Given the description of an element on the screen output the (x, y) to click on. 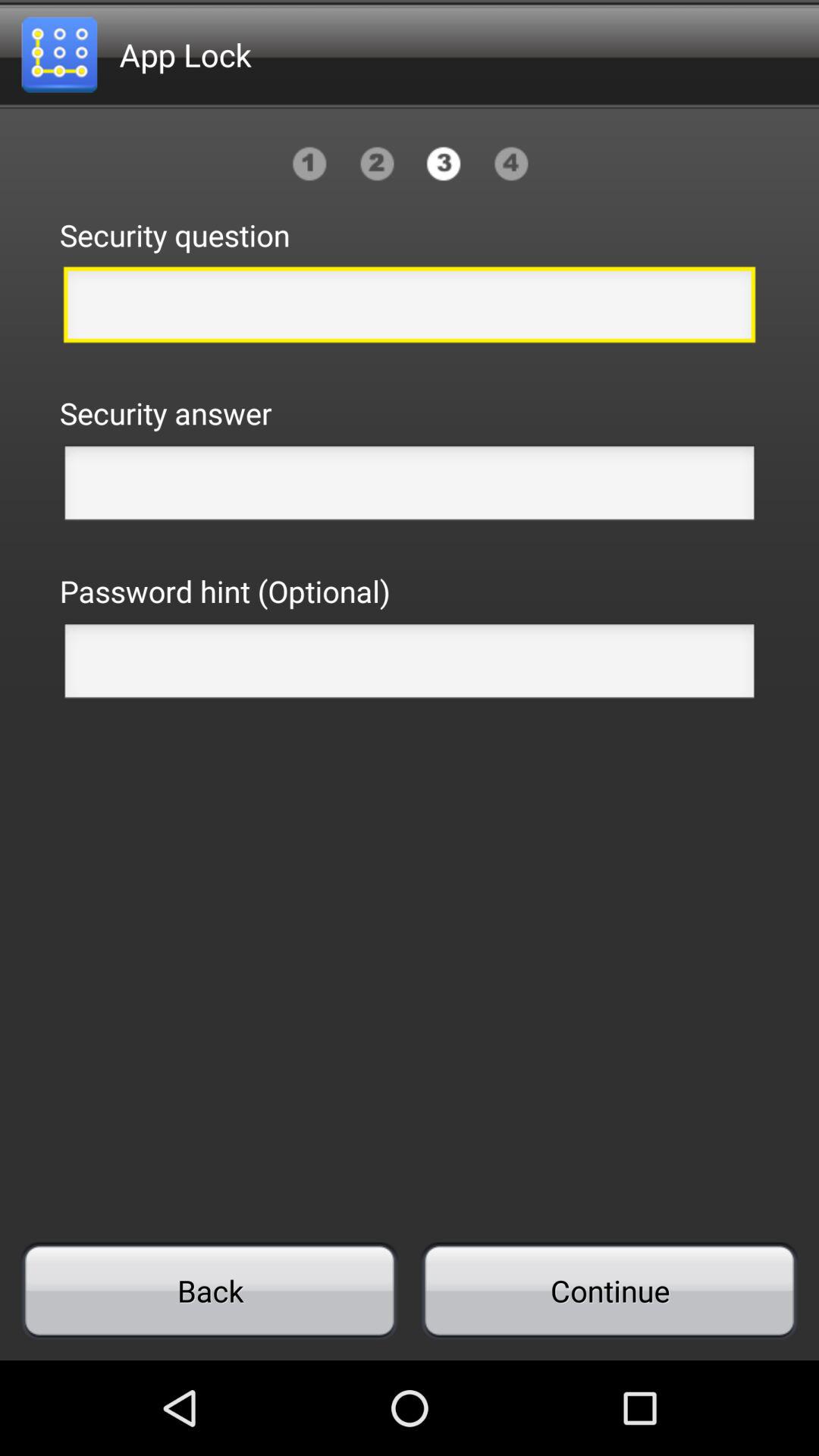
press icon to the right of back item (609, 1290)
